Given the description of an element on the screen output the (x, y) to click on. 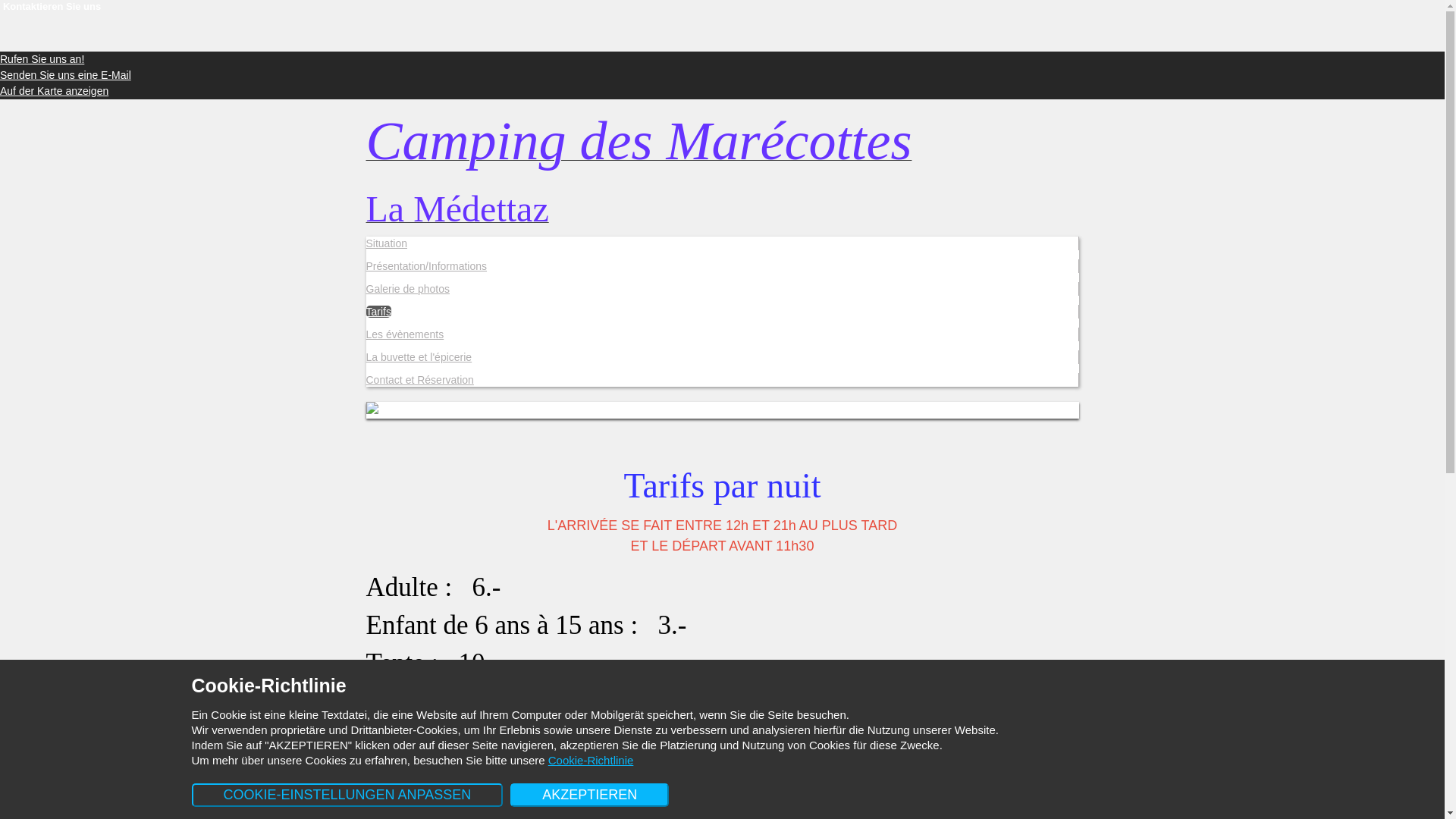
Auf der Karte anzeigen Element type: text (54, 90)
Situation Element type: text (385, 243)
Senden Sie uns eine E-Mail Element type: text (65, 75)
Cookie-Richtlinie Element type: text (590, 759)
Tarifs Element type: text (377, 311)
COOKIE-EINSTELLUNGEN ANPASSEN Element type: text (346, 794)
Galerie de photos Element type: text (407, 288)
Rufen Sie uns an! Element type: text (42, 59)
AKZEPTIEREN Element type: text (589, 794)
